Given the description of an element on the screen output the (x, y) to click on. 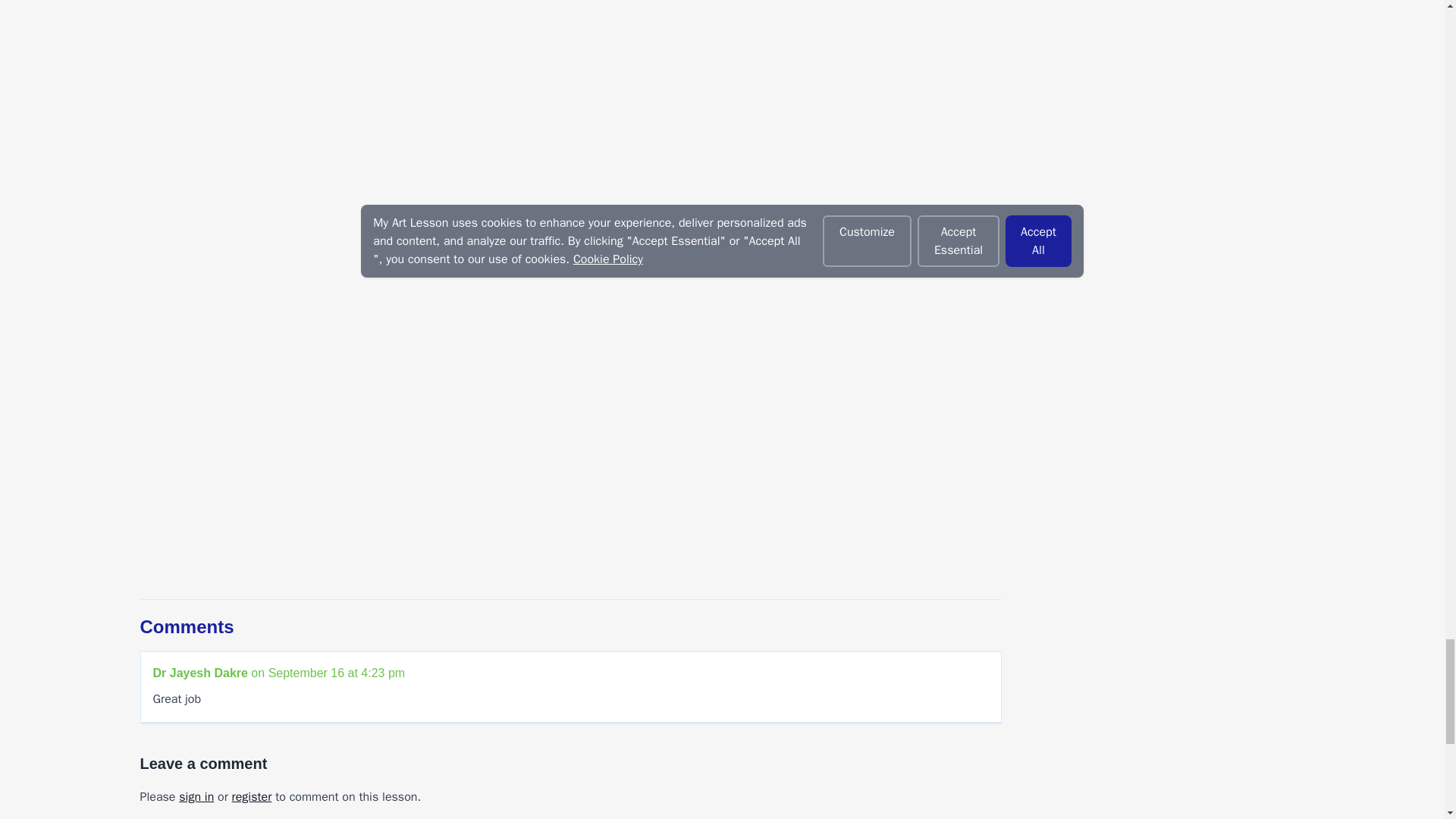
sign in (196, 796)
2023-09-16 (336, 672)
register (251, 796)
